Given the description of an element on the screen output the (x, y) to click on. 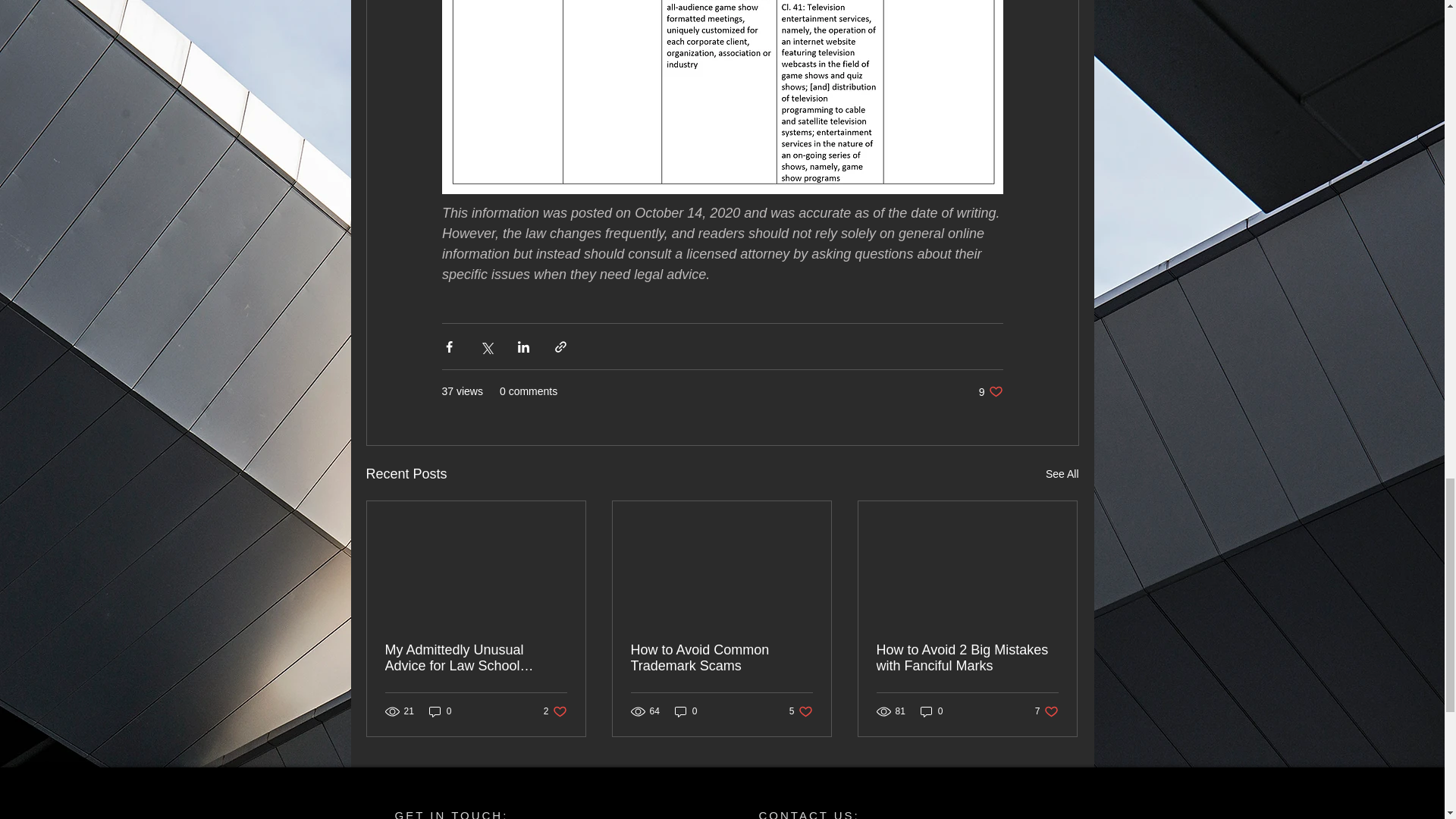
0 (990, 391)
My Admittedly Unusual Advice for Law School Students (931, 711)
How to Avoid 2 Big Mistakes with Fanciful Marks (476, 658)
0 (800, 711)
How to Avoid Common Trademark Scams (555, 711)
See All (967, 658)
